Given the description of an element on the screen output the (x, y) to click on. 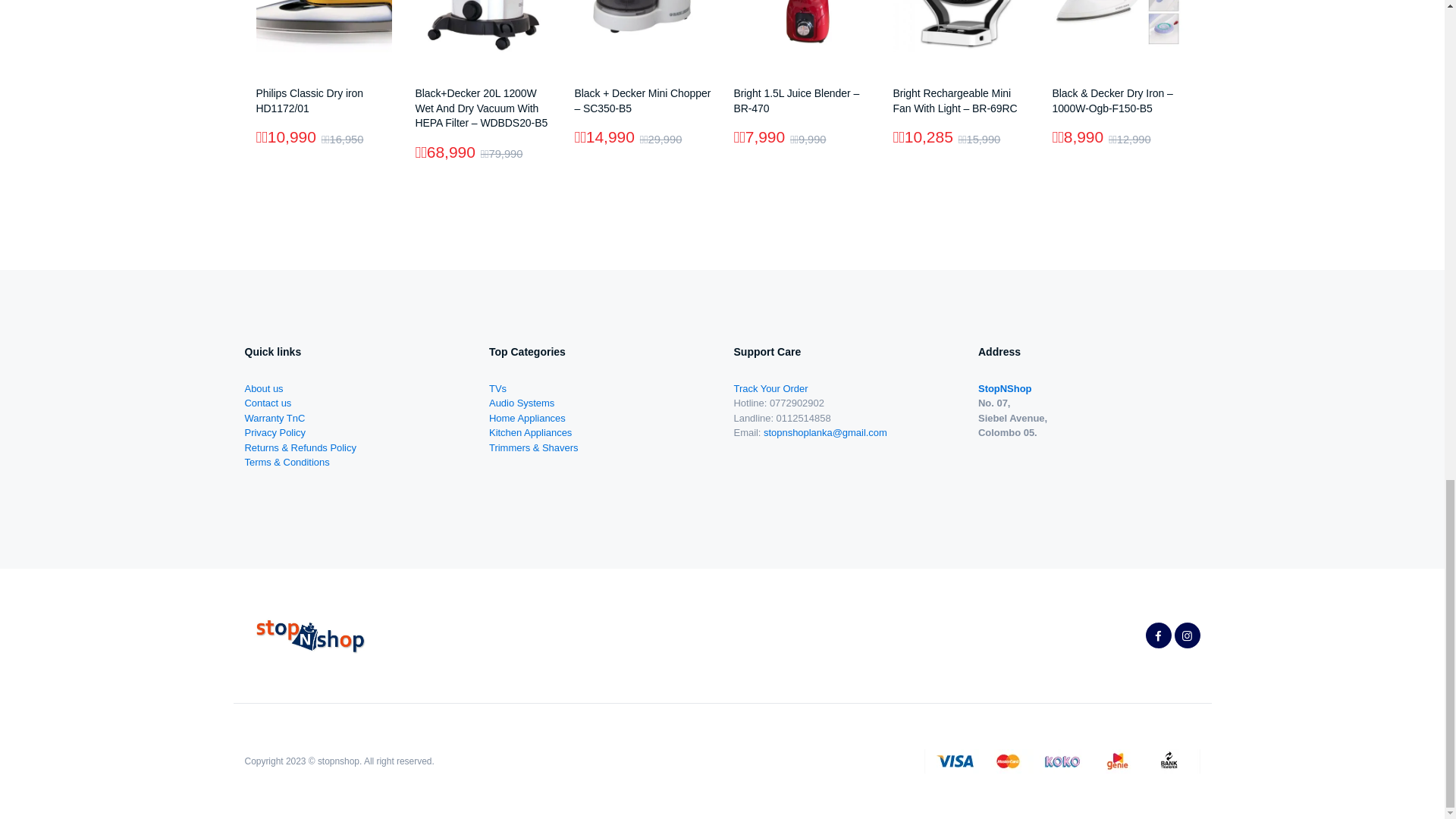
STOPNSHOP (309, 635)
